Given the description of an element on the screen output the (x, y) to click on. 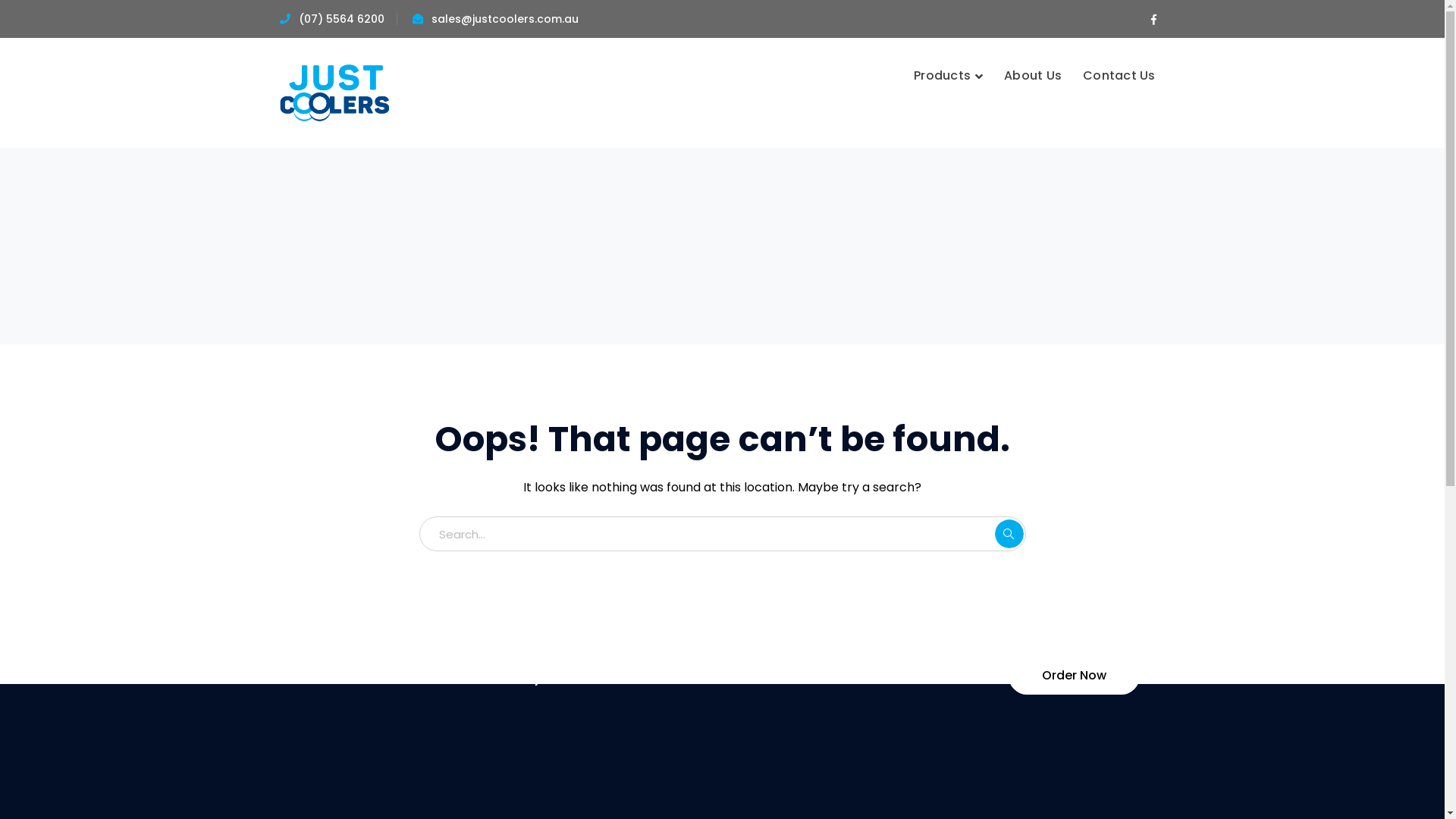
Facebook Profile Element type: text (1154, 19)
SEARCH Element type: text (1008, 533)
Contact Us Element type: text (1118, 75)
Products Element type: text (947, 75)
Search for: Element type: hover (721, 533)
Just Coolers | Australian Made Stubby Coolers Element type: hover (335, 91)
Order Now Element type: text (1073, 675)
About Us Element type: text (1032, 75)
